Given the description of an element on the screen output the (x, y) to click on. 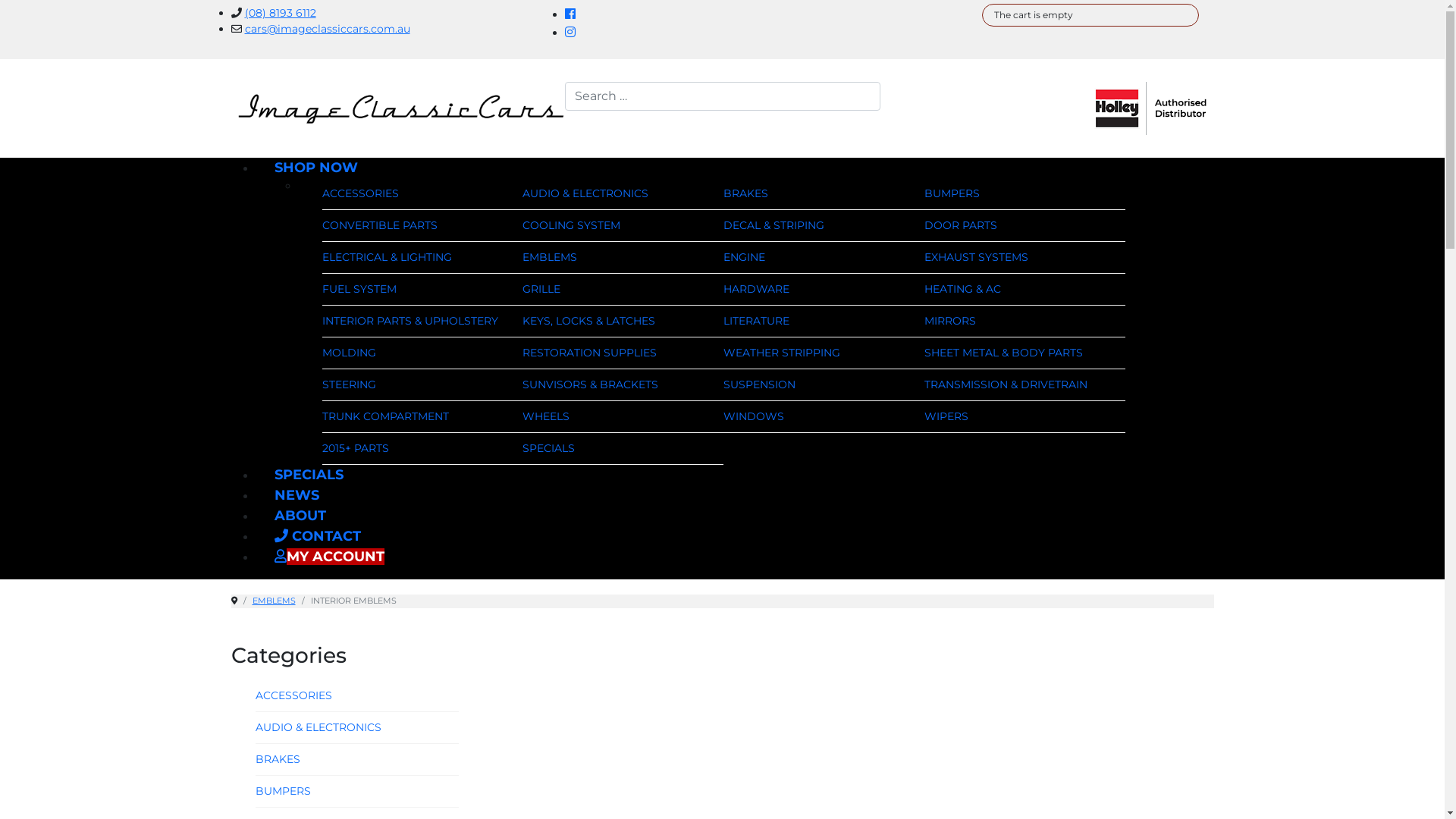
RESTORATION SUPPLIES Element type: text (589, 352)
TRUNK COMPARTMENT Element type: text (384, 416)
WHEELS Element type: text (545, 416)
(08) 8193 6112 Element type: text (279, 12)
BRAKES Element type: text (745, 193)
AUDIO & ELECTRONICS Element type: text (317, 727)
SHEET METAL & BODY PARTS Element type: text (1003, 352)
BRAKES Element type: text (276, 758)
ELECTRICAL & LIGHTING Element type: text (386, 256)
MIRRORS Element type: text (949, 320)
KEYS, LOCKS & LATCHES Element type: text (588, 320)
SUNVISORS & BRACKETS Element type: text (590, 384)
EMBLEMS Element type: text (549, 256)
MY ACCOUNT Element type: text (328, 556)
ACCESSORIES Element type: text (359, 193)
DOOR PARTS Element type: text (960, 225)
SPECIALS Element type: text (548, 448)
cars@imageclassiccars.com.au Element type: text (326, 28)
STEERING Element type: text (348, 384)
2015+ PARTS Element type: text (354, 448)
WINDOWS Element type: text (753, 416)
HARDWARE Element type: text (756, 288)
ABOUT Element type: text (299, 515)
SPECIALS Element type: text (307, 474)
TRANSMISSION & DRIVETRAIN Element type: text (1005, 384)
HEATING & AC Element type: text (962, 288)
GRILLE Element type: text (541, 288)
WIPERS Element type: text (946, 416)
AUDIO & ELECTRONICS Element type: text (585, 193)
MOLDING Element type: text (348, 352)
BUMPERS Element type: text (282, 790)
INTERIOR PARTS & UPHOLSTERY Element type: text (409, 320)
EXHAUST SYSTEMS Element type: text (976, 256)
FUEL SYSTEM Element type: text (358, 288)
DECAL & STRIPING Element type: text (773, 225)
SUSPENSION Element type: text (759, 384)
COOLING SYSTEM Element type: text (571, 225)
EMBLEMS Element type: text (272, 600)
CONVERTIBLE PARTS Element type: text (378, 225)
ENGINE Element type: text (744, 256)
NEWS Element type: text (295, 494)
SHOP NOW Element type: text (315, 167)
ACCESSORIES Element type: text (292, 695)
BUMPERS Element type: text (951, 193)
LITERATURE Element type: text (756, 320)
CONTACT Element type: text (316, 535)
WEATHER STRIPPING Element type: text (781, 352)
